Given the description of an element on the screen output the (x, y) to click on. 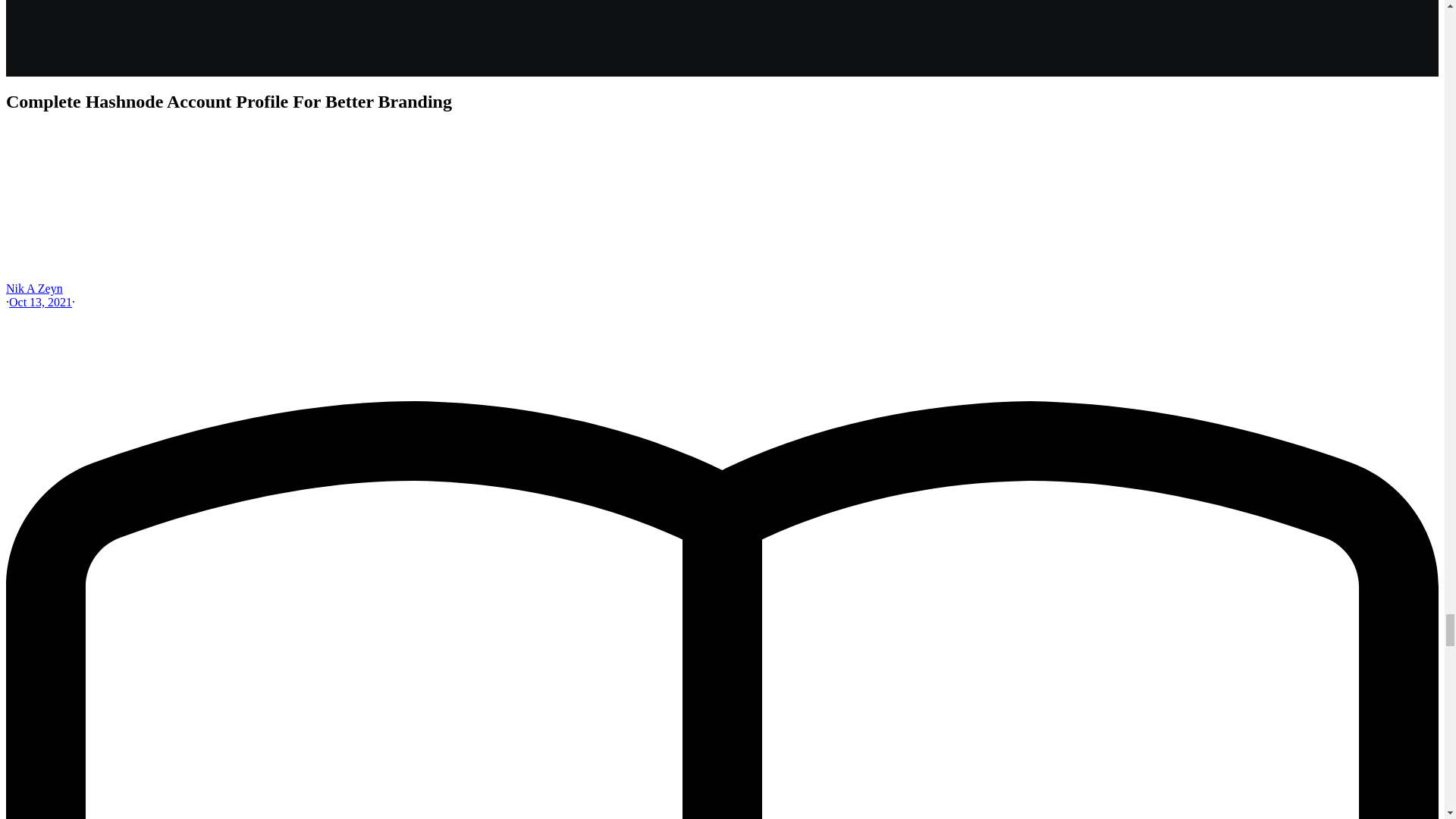
Nik A Zeyn (33, 287)
Oct 13, 2021 (39, 301)
